Given the description of an element on the screen output the (x, y) to click on. 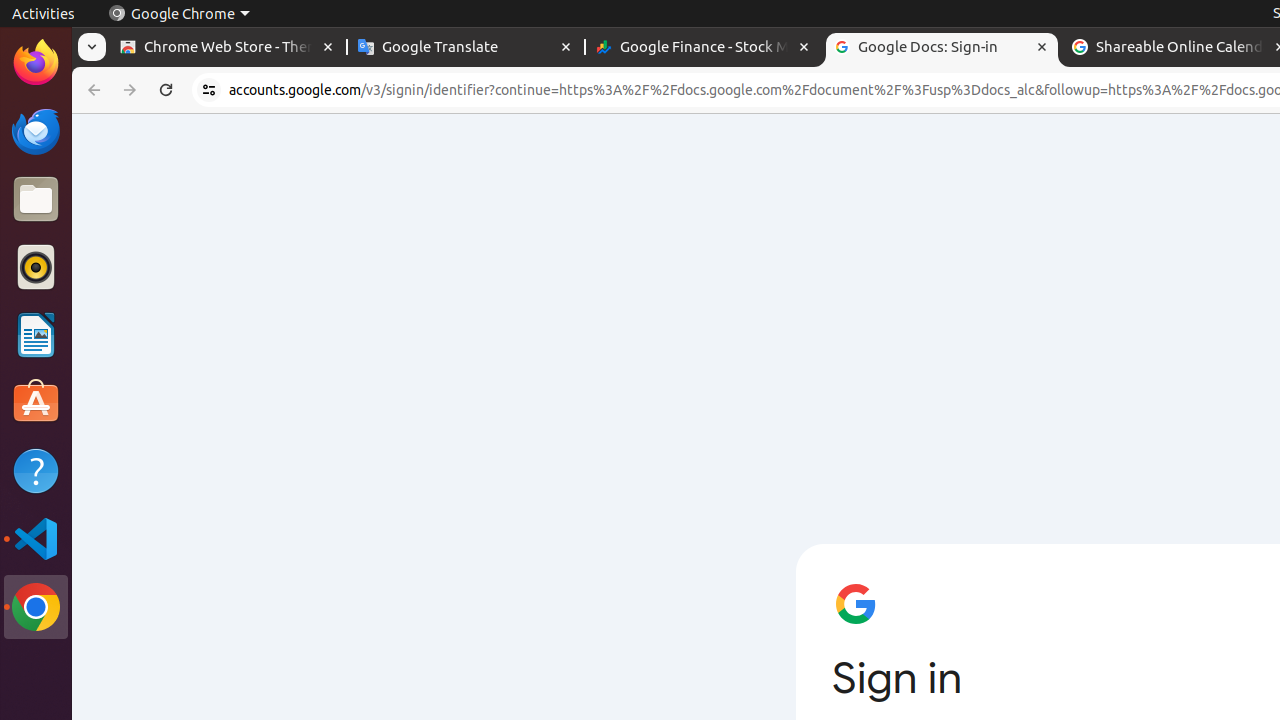
Back Element type: push-button (91, 90)
LibreOffice Writer Element type: push-button (36, 334)
Files Element type: push-button (36, 199)
Visual Studio Code Element type: push-button (36, 538)
View site information Element type: push-button (209, 90)
